Given the description of an element on the screen output the (x, y) to click on. 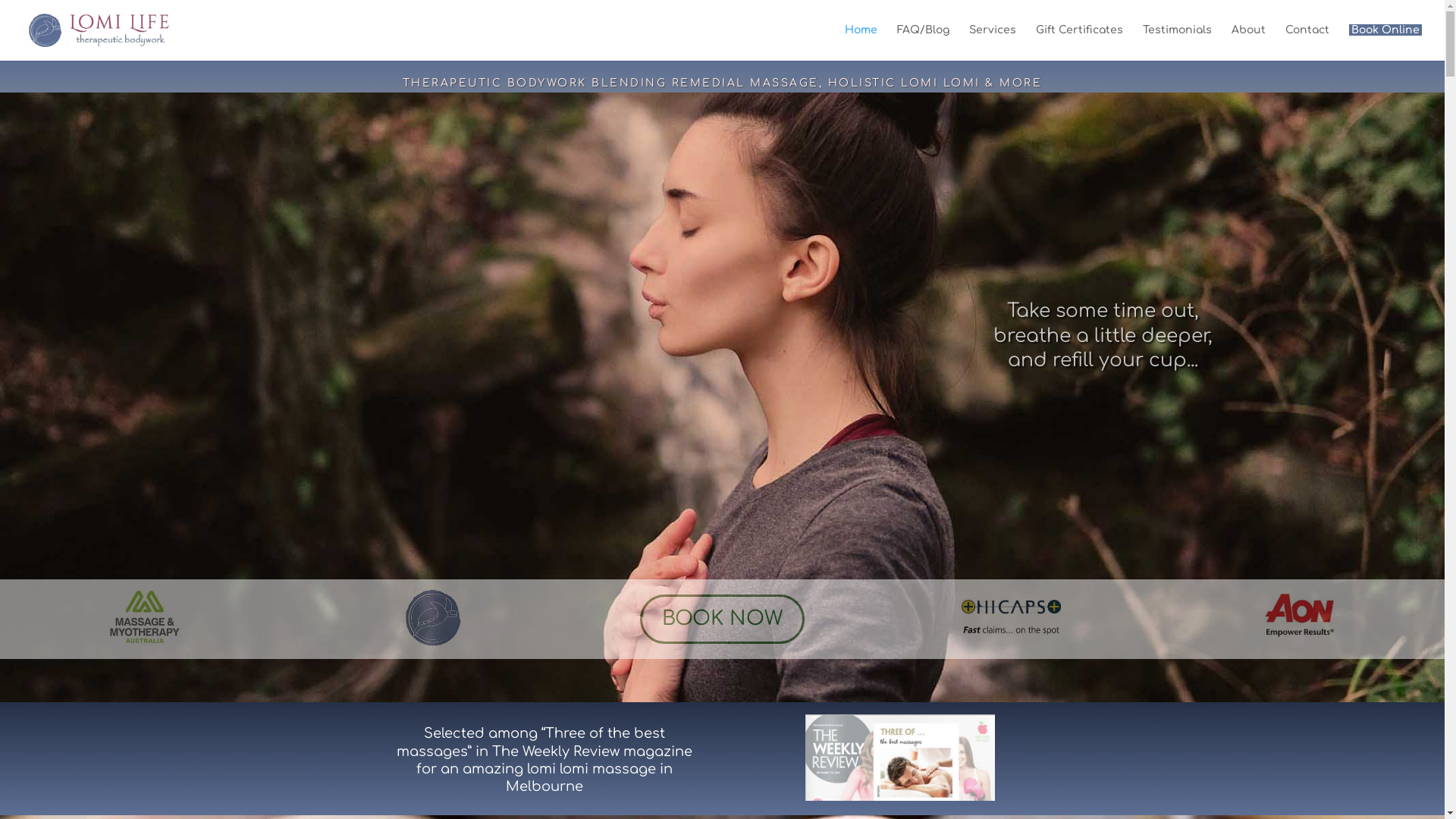
Gift Certificates Element type: text (1079, 42)
Testimonials Element type: text (1176, 42)
.Book Online. Element type: text (1385, 42)
BOOK NOW Element type: text (722, 619)
Home Element type: text (860, 42)
About Element type: text (1248, 42)
FAQ/Blog Element type: text (923, 42)
Services Element type: text (992, 42)
Contact Element type: text (1307, 42)
